Given the description of an element on the screen output the (x, y) to click on. 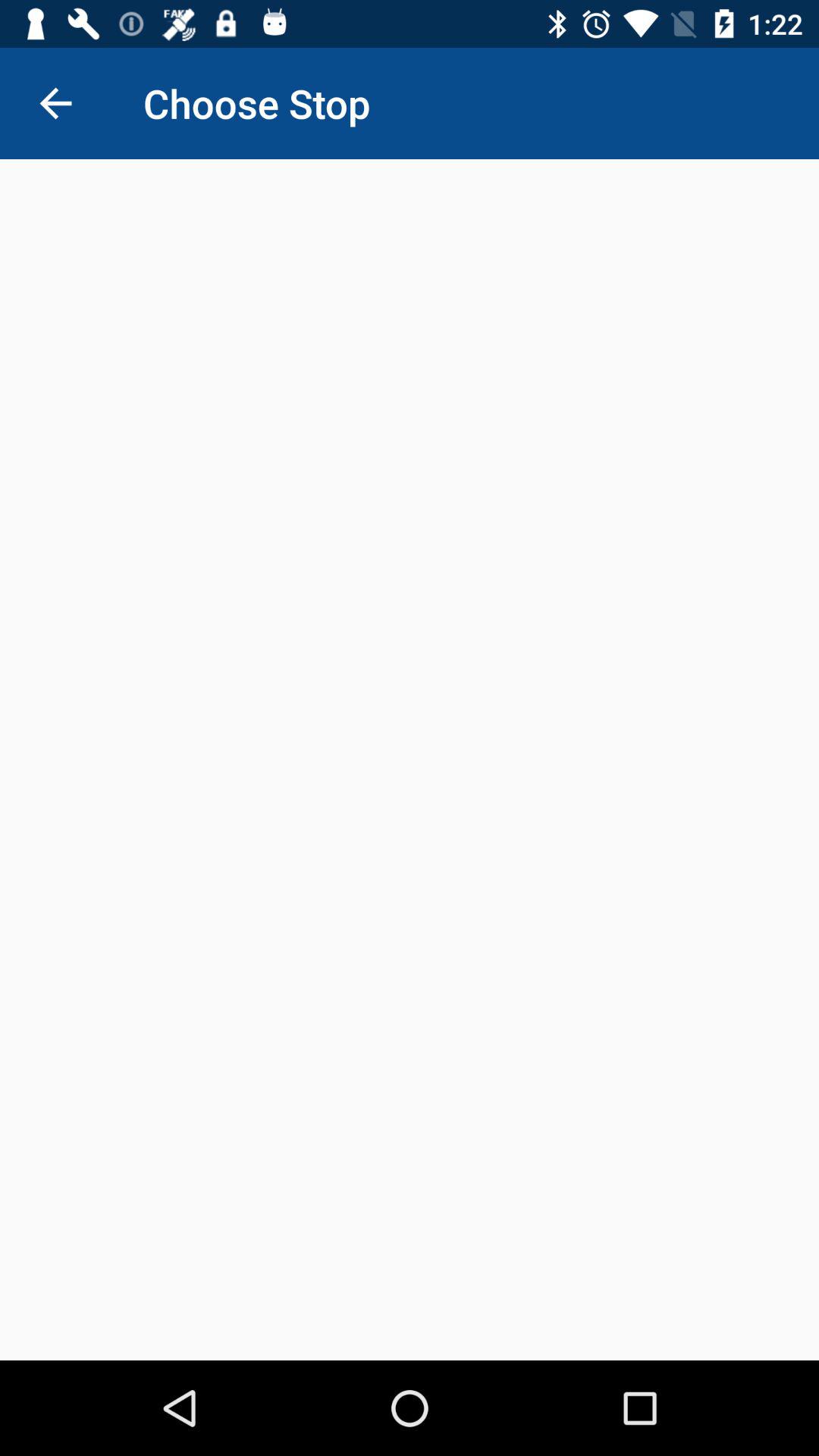
open item to the left of choose stop (55, 103)
